Given the description of an element on the screen output the (x, y) to click on. 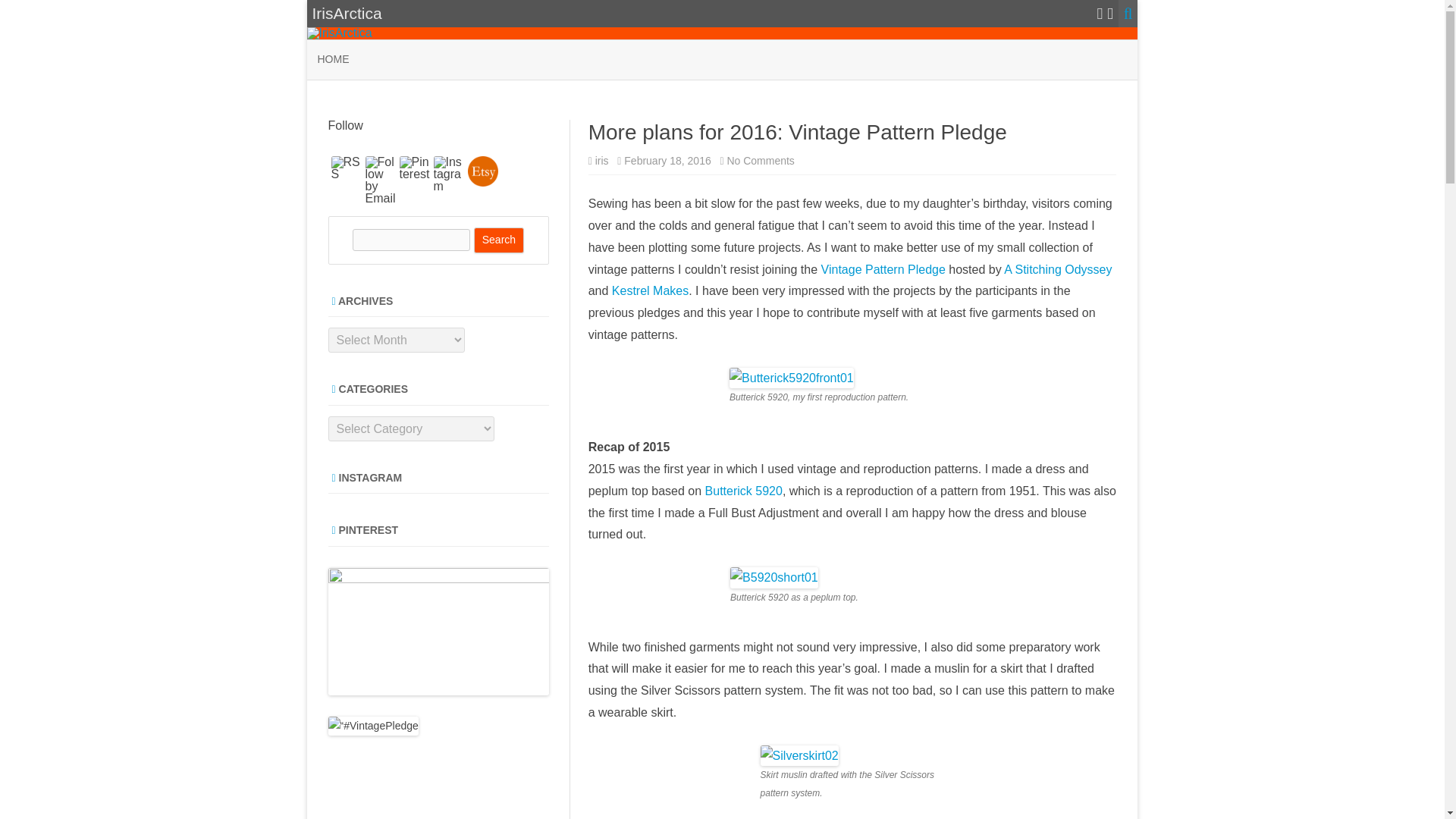
A Stitching Odyssey (1058, 269)
iris (601, 160)
Kestrel Makes (649, 290)
Search (499, 240)
Butterick 5920 (742, 490)
Pinterest (413, 168)
RSS (759, 160)
Skip to content (345, 168)
Skip to content (885, 269)
